Given the description of an element on the screen output the (x, y) to click on. 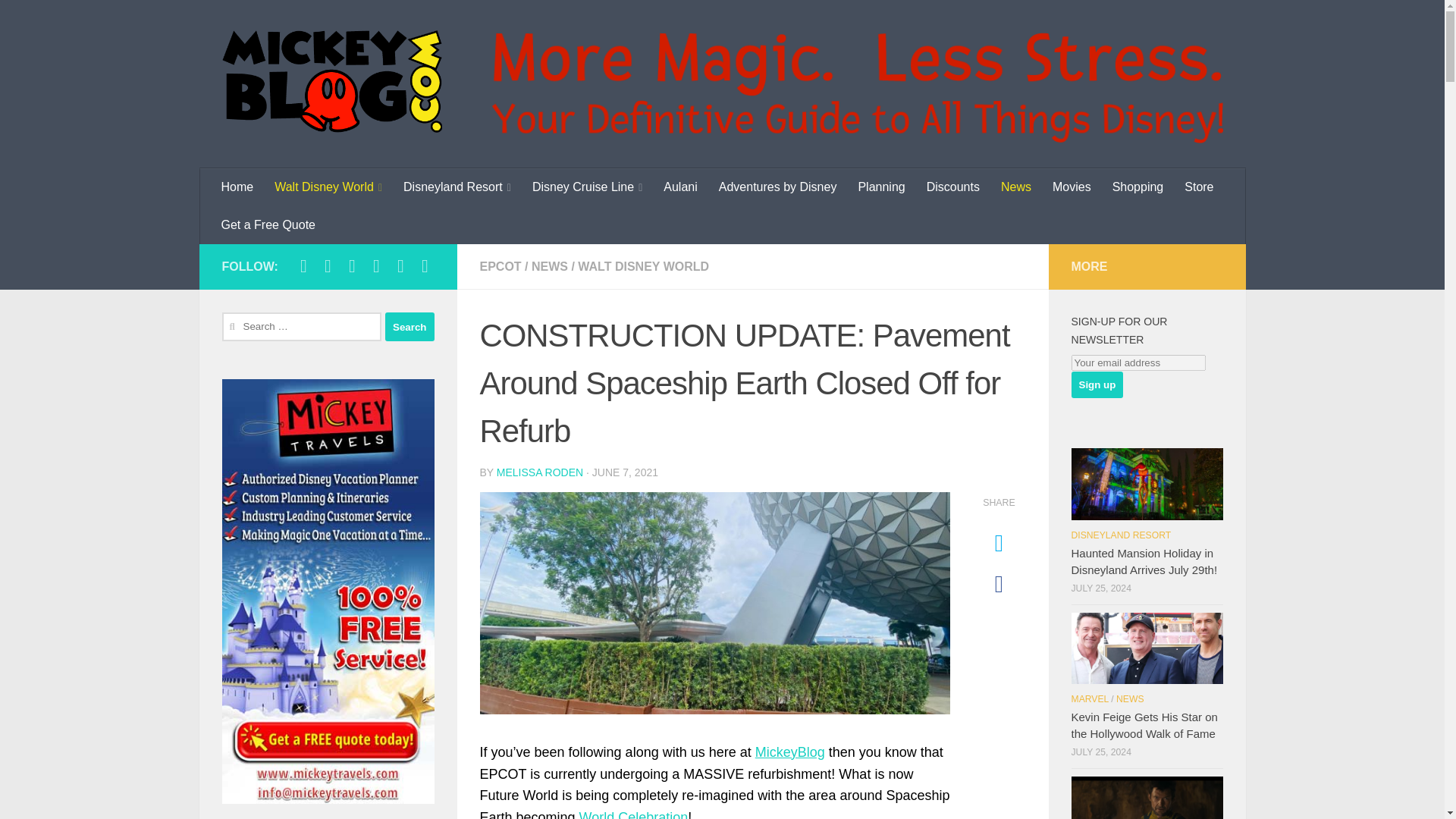
Follow us on Facebook (303, 266)
Skip to content (63, 20)
Follow us on Tiktok (375, 266)
Home (237, 187)
Sign up (1096, 384)
Follow us on Pinterest (423, 266)
Search (409, 326)
Posts by Melissa Roden (539, 472)
Walt Disney World (328, 187)
Follow us on Youtube (400, 266)
Follow us on Instagram (327, 266)
Search (409, 326)
Follow us on Twitter (351, 266)
